Given the description of an element on the screen output the (x, y) to click on. 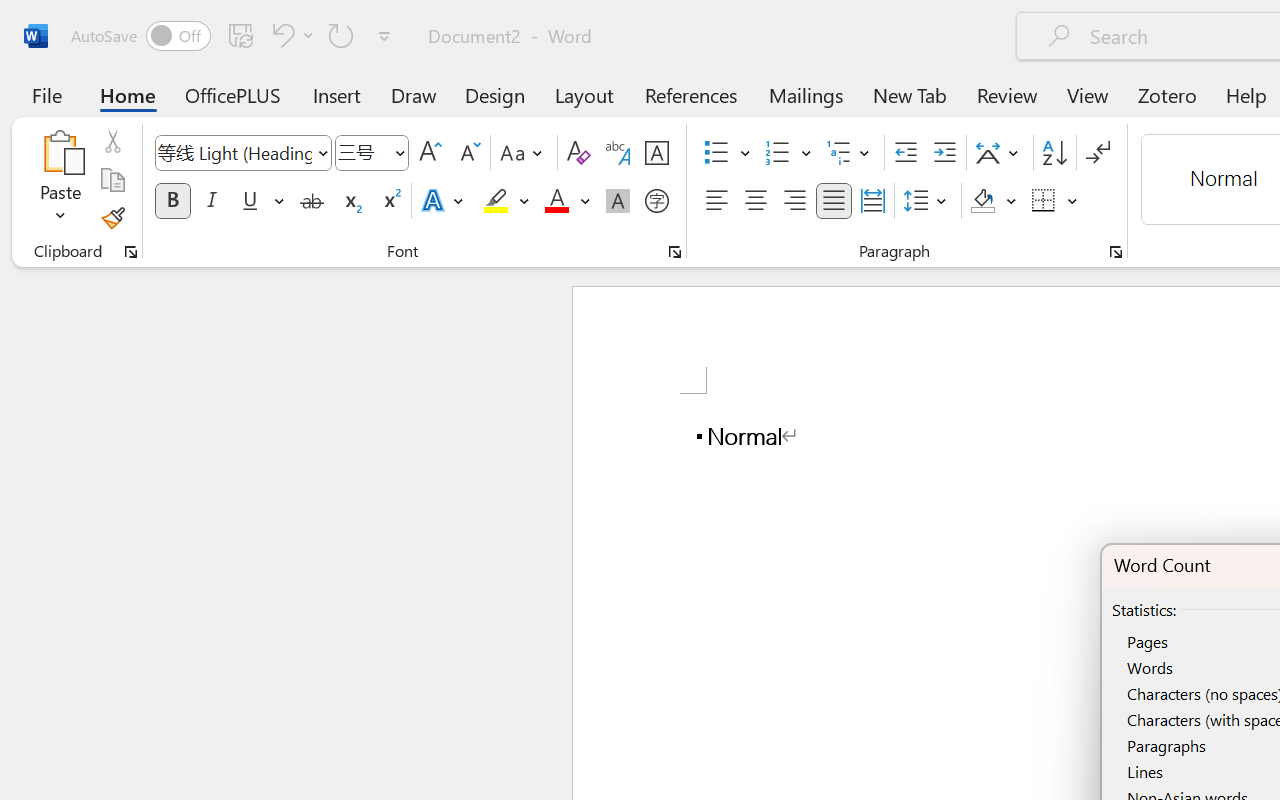
OfficePLUS (233, 94)
Decrease Indent (906, 153)
Character Border (656, 153)
Enclose Characters... (656, 201)
Shading (993, 201)
Increase Indent (944, 153)
Format Painter (112, 218)
Copy (112, 179)
Undo Typing (280, 35)
Paragraph... (1115, 252)
Zotero (1166, 94)
Review (1007, 94)
Shading RGB(0, 0, 0) (982, 201)
Numbering (788, 153)
